Given the description of an element on the screen output the (x, y) to click on. 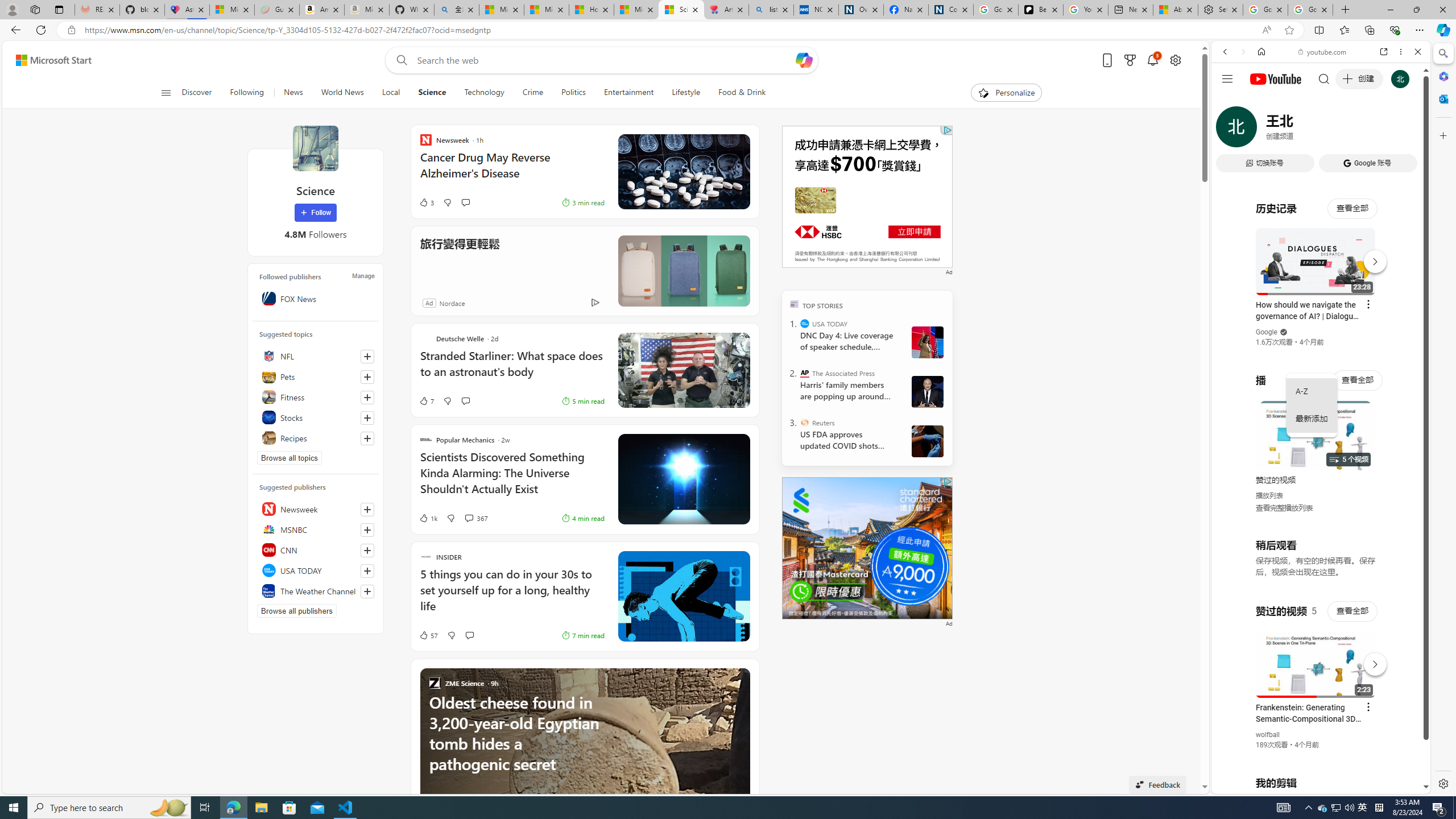
Preferences (1403, 129)
World News (341, 92)
Newsweek (315, 508)
USA TODAY (804, 323)
Arthritis: Ask Health Professionals (726, 9)
7 Like (425, 400)
Class: button-glyph (165, 92)
WEB   (1230, 130)
Food & Drink (737, 92)
